Given the description of an element on the screen output the (x, y) to click on. 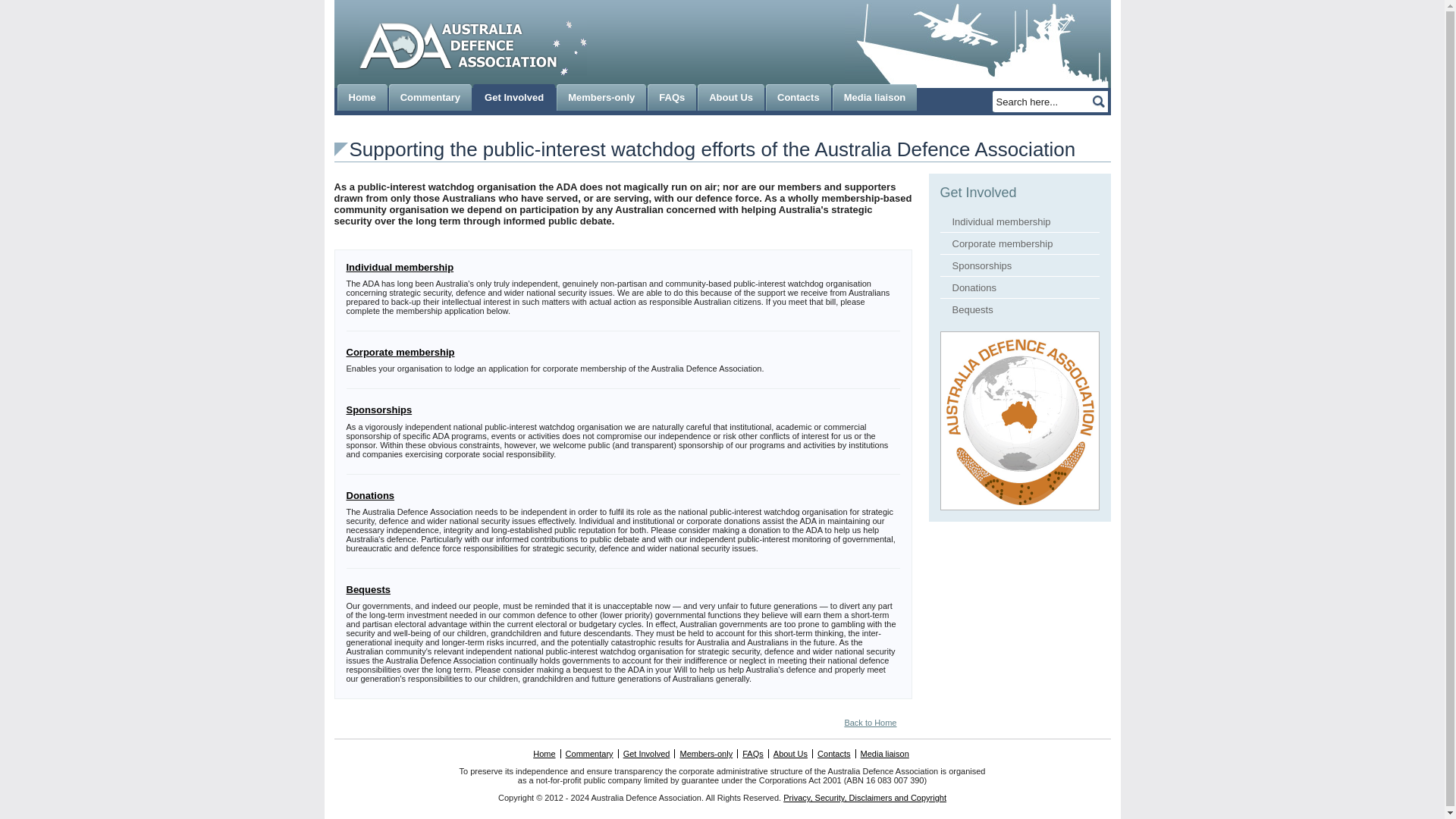
Members-only (598, 97)
Home (358, 97)
Get Involved (511, 97)
Members-only (598, 97)
About Us (727, 97)
Commentary (426, 97)
Home (358, 97)
Commentary (426, 97)
Get Involved (511, 97)
FAQs (668, 97)
